Given the description of an element on the screen output the (x, y) to click on. 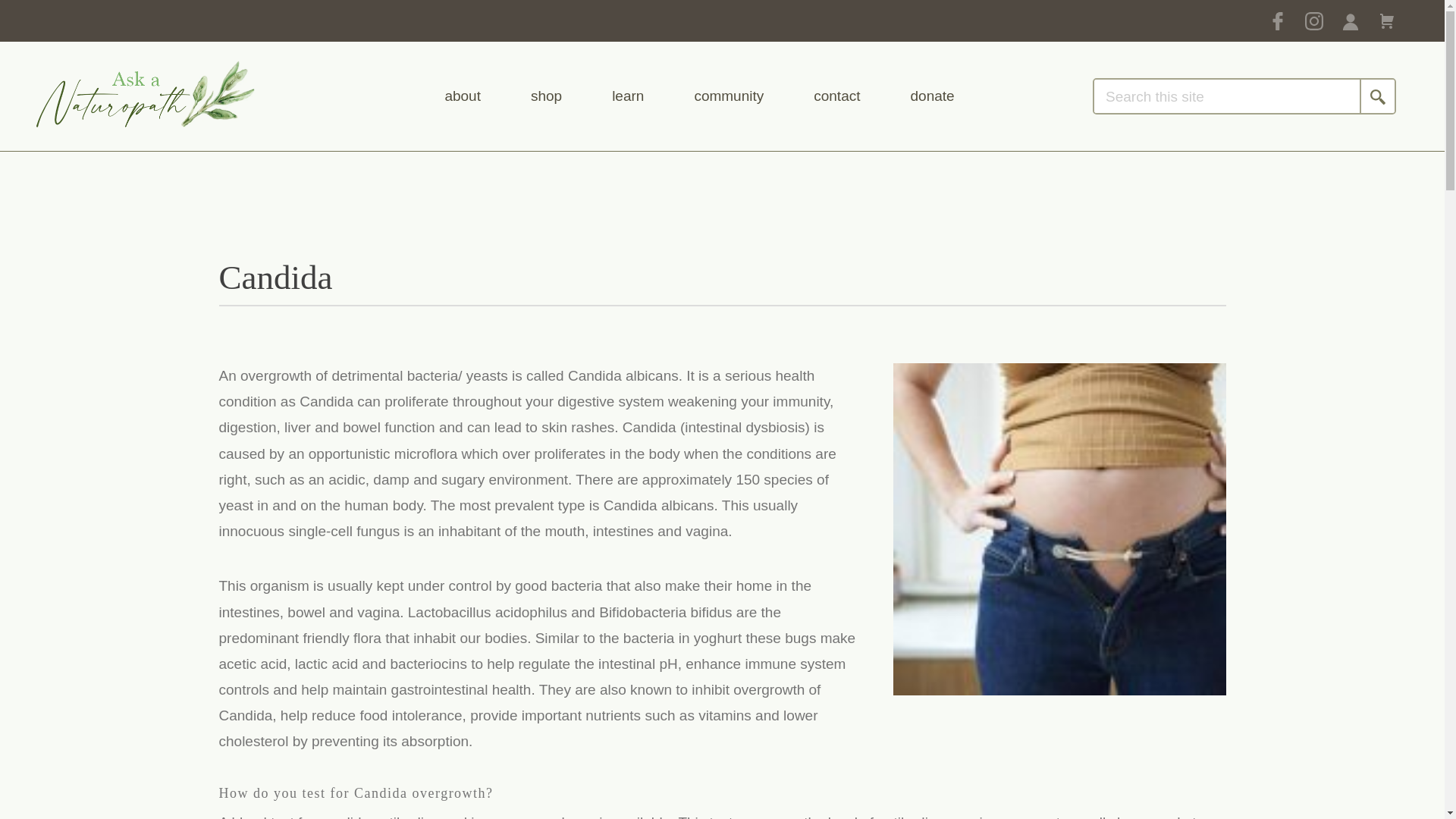
community (728, 95)
donate (931, 95)
contact (836, 95)
about (462, 95)
